Given the description of an element on the screen output the (x, y) to click on. 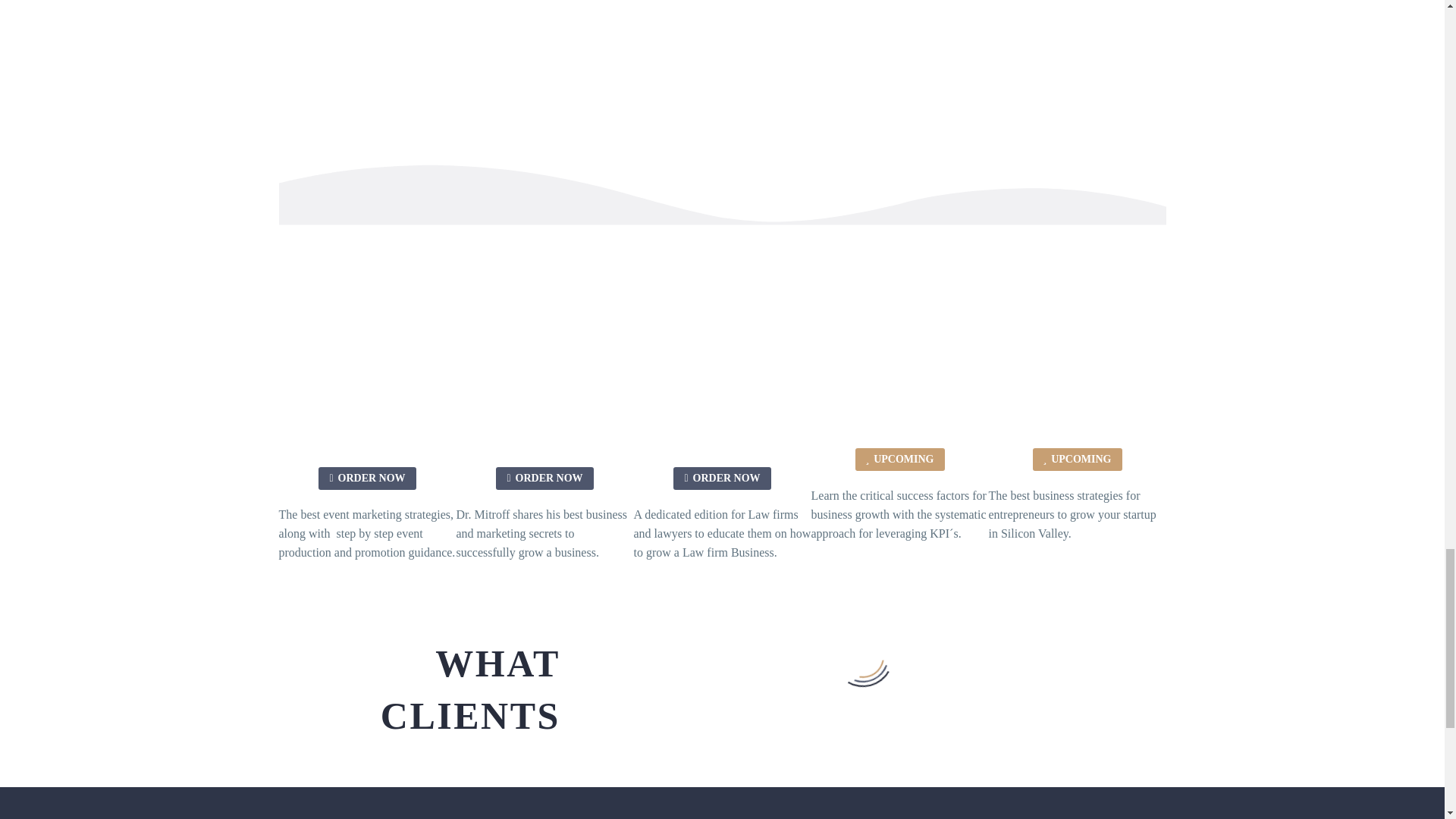
UPCOMING (900, 458)
ORDER NOW (366, 477)
ORDER NOW (721, 477)
ORDER NOW (544, 477)
UPCOMING (1077, 458)
